Given the description of an element on the screen output the (x, y) to click on. 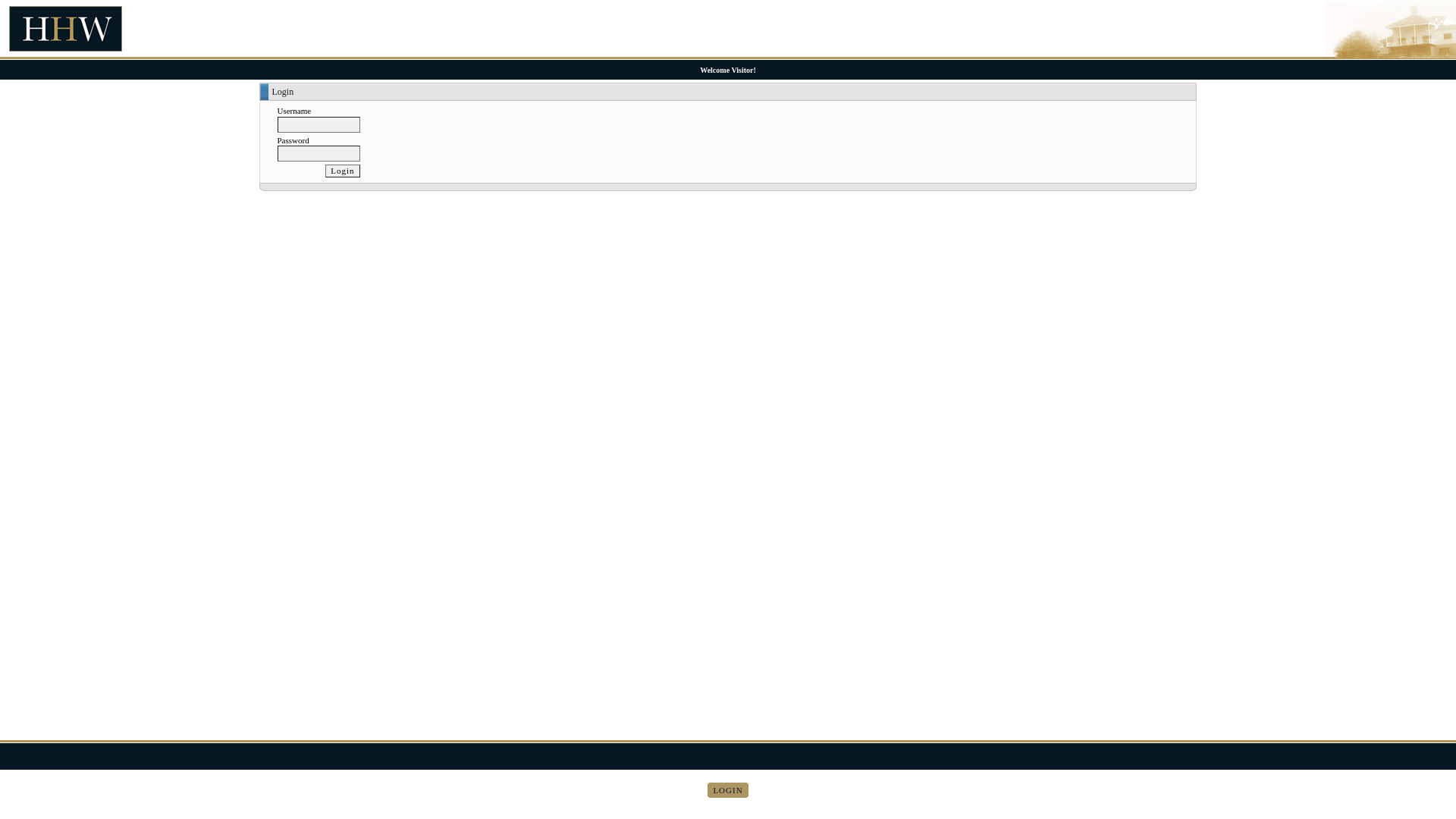
Login Element type: text (342, 170)
LOGIN Element type: text (727, 789)
